Given the description of an element on the screen output the (x, y) to click on. 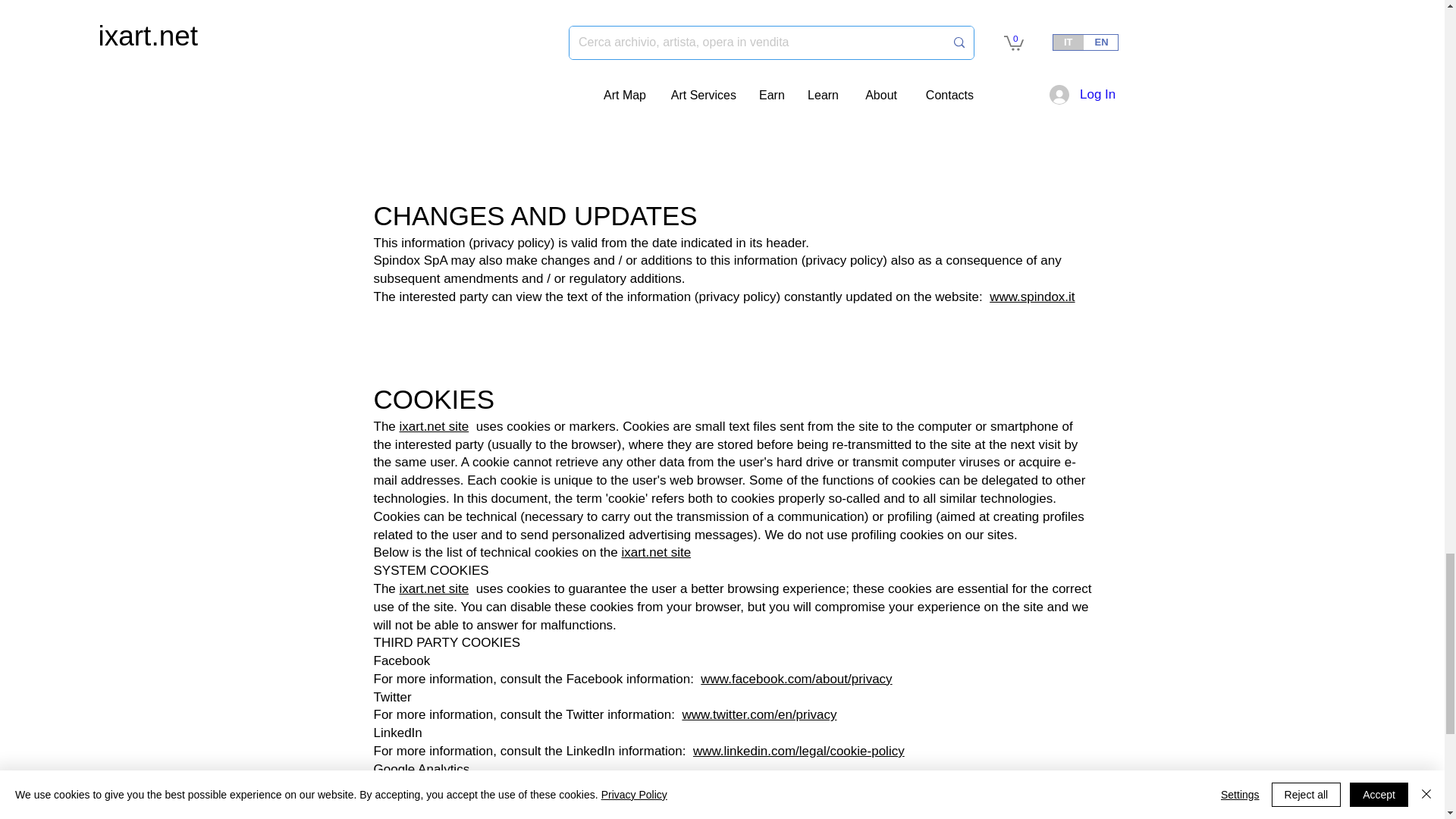
ixart.net site (433, 588)
ixart.net site (655, 552)
ixart.net site (433, 426)
www.spindox.it (1032, 296)
